Given the description of an element on the screen output the (x, y) to click on. 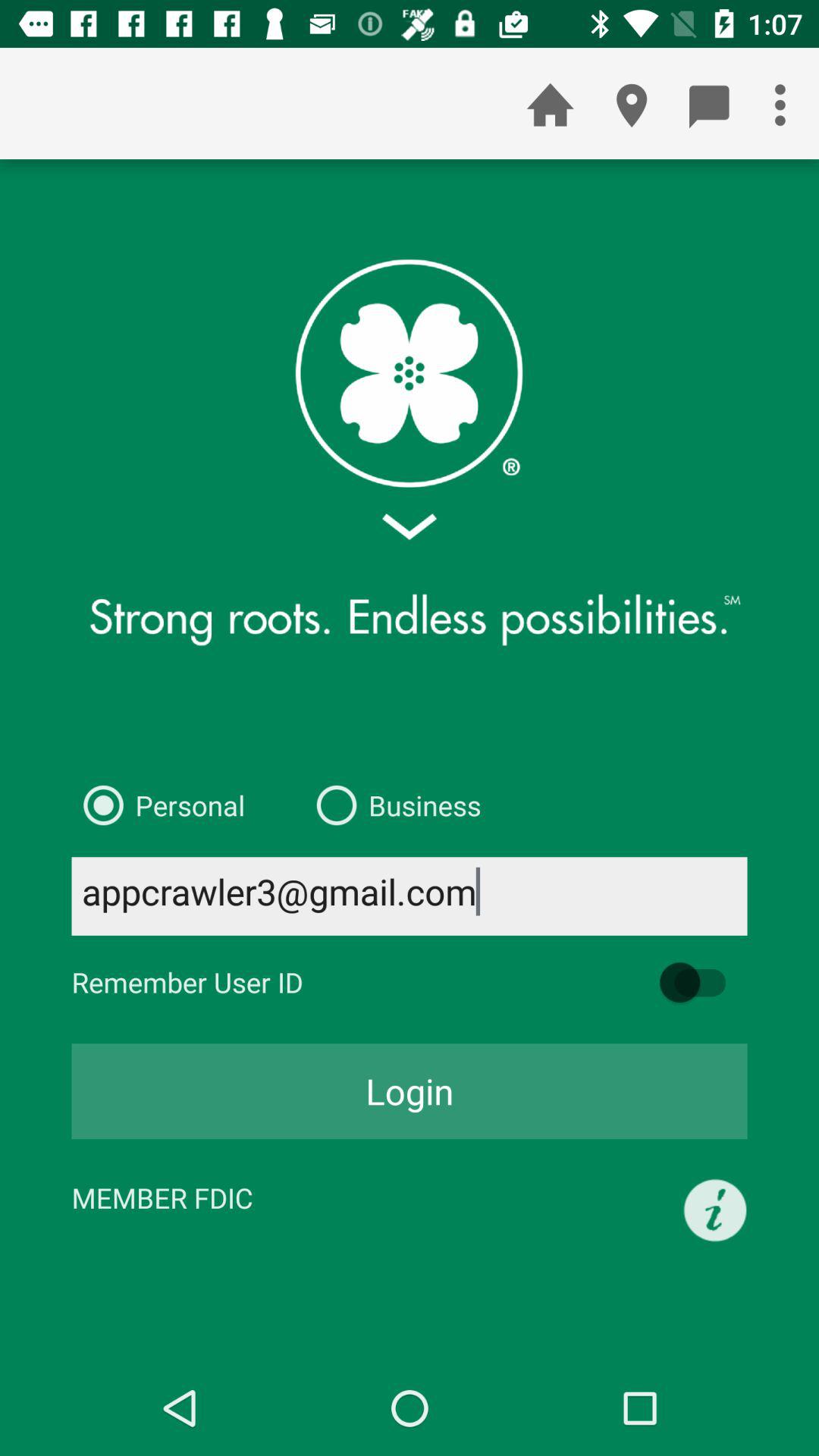
turn on the item below personal item (409, 896)
